Given the description of an element on the screen output the (x, y) to click on. 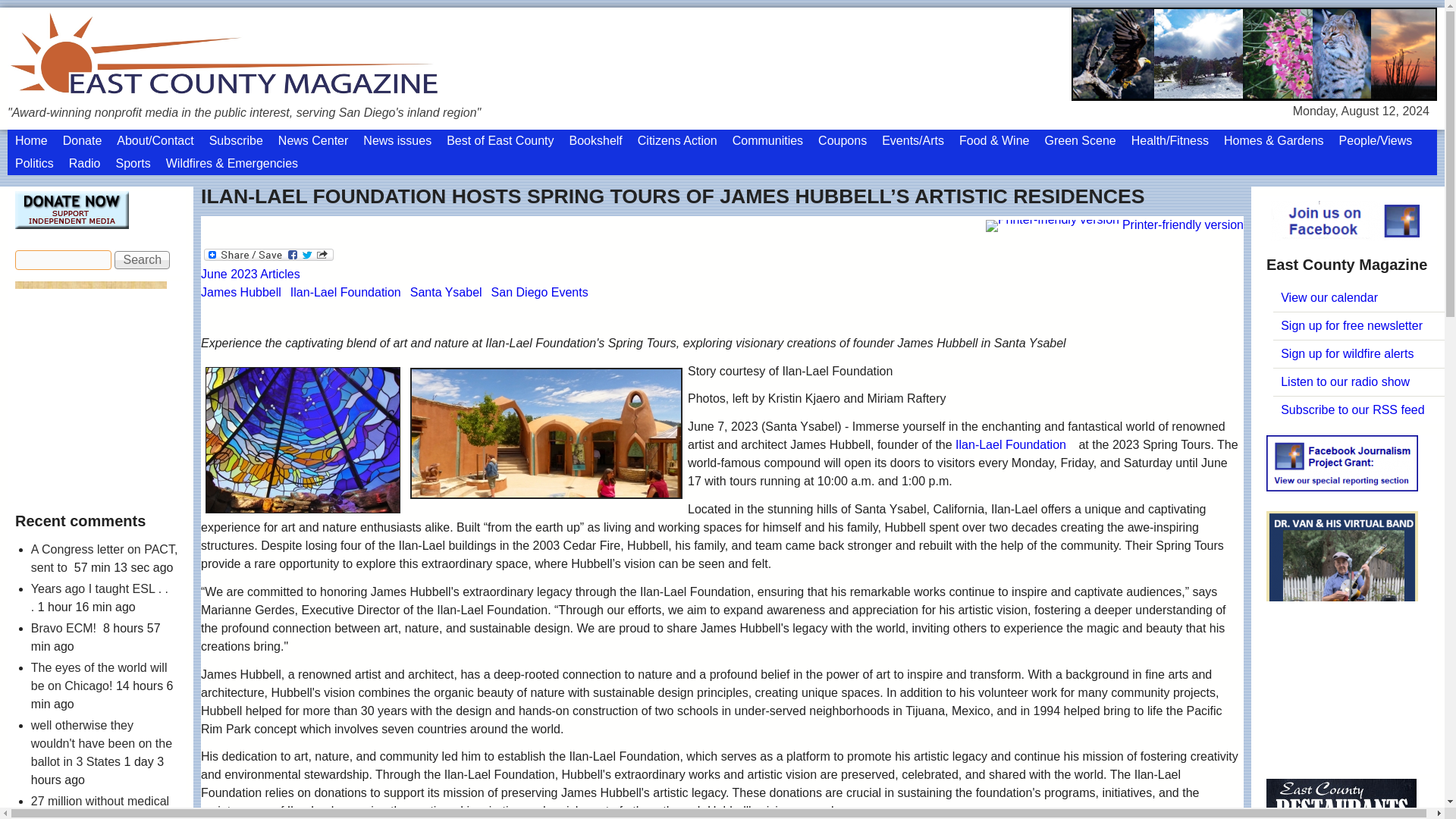
Best of East County (499, 140)
News Center (312, 140)
Home (31, 140)
Search (142, 259)
Subscribe (236, 140)
Donate (82, 140)
News issues (397, 140)
